Given the description of an element on the screen output the (x, y) to click on. 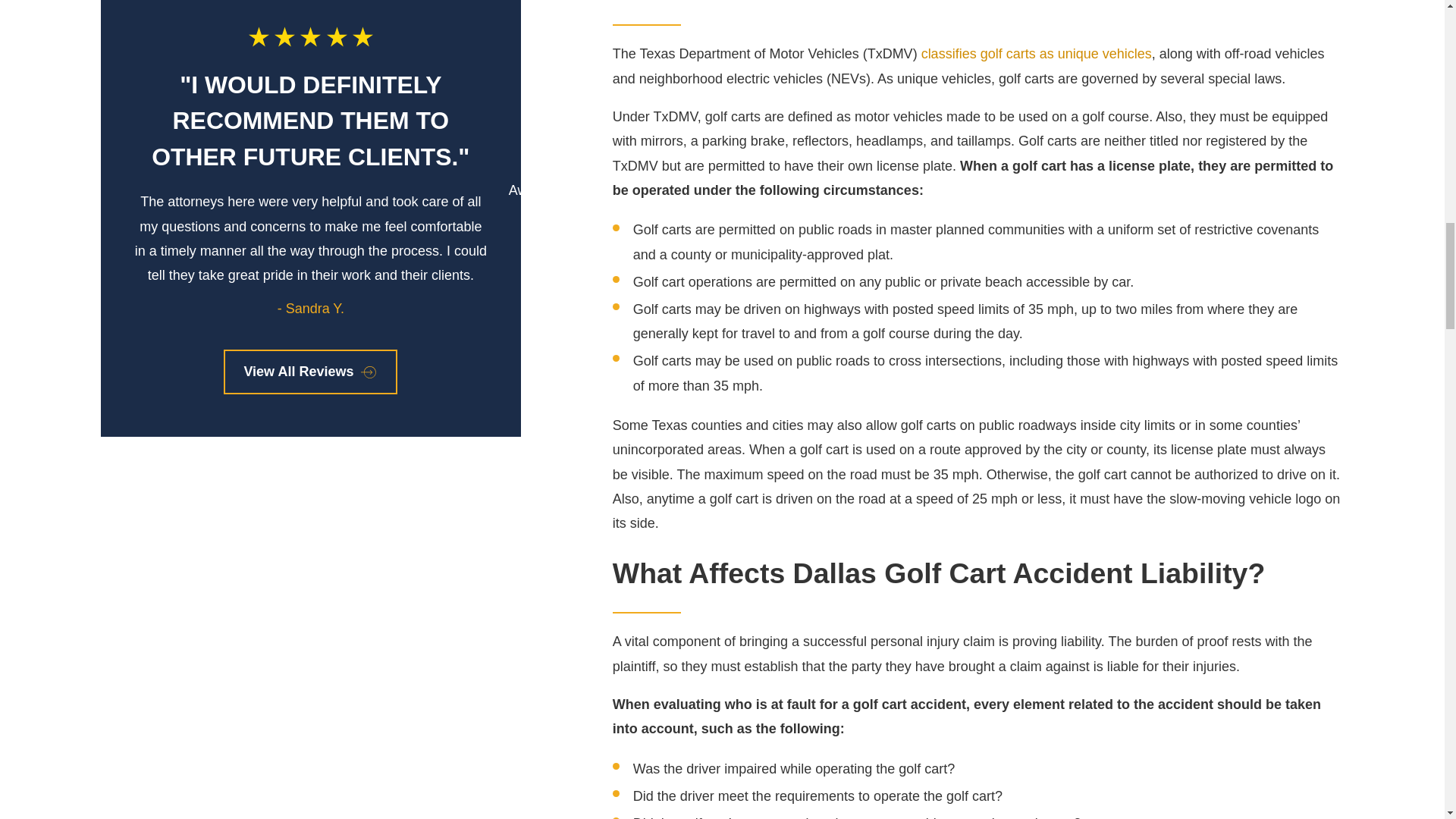
5 Star Rating (310, 36)
